Given the description of an element on the screen output the (x, y) to click on. 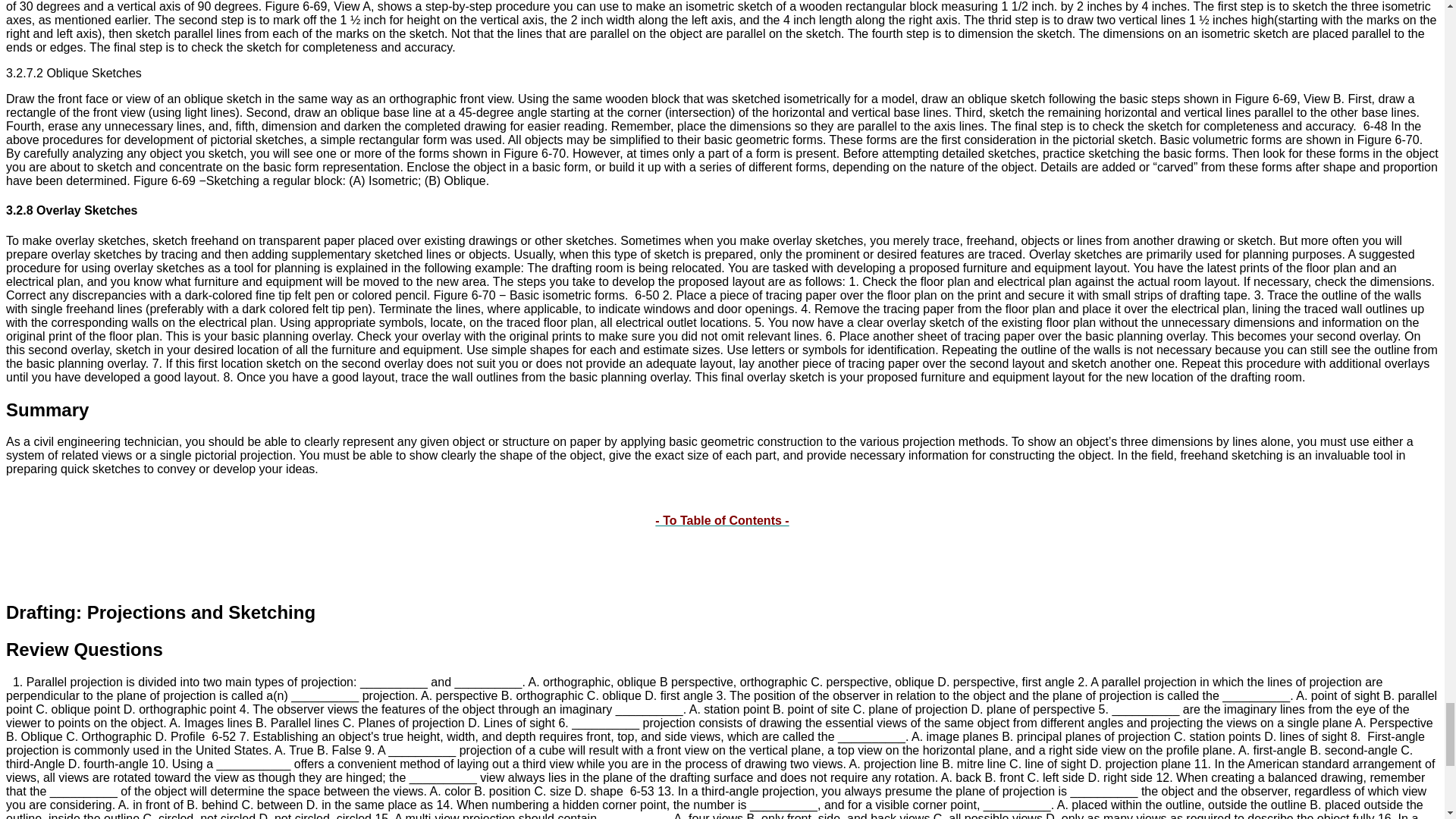
Summary (46, 409)
Review Questions (84, 649)
- To Table of Contents - (722, 520)
